Given the description of an element on the screen output the (x, y) to click on. 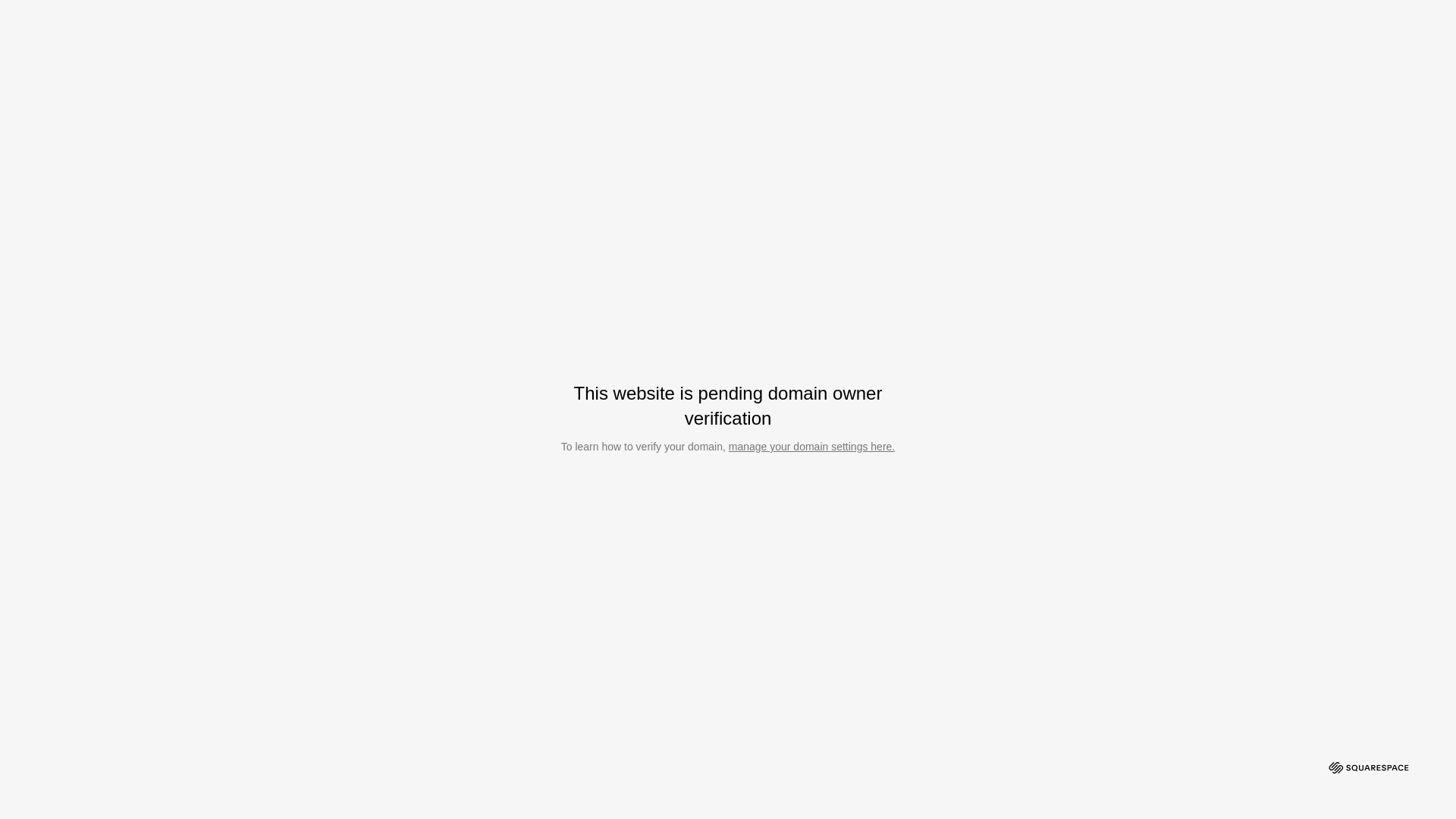
manage your domain settings here. Element type: text (811, 446)
